Given the description of an element on the screen output the (x, y) to click on. 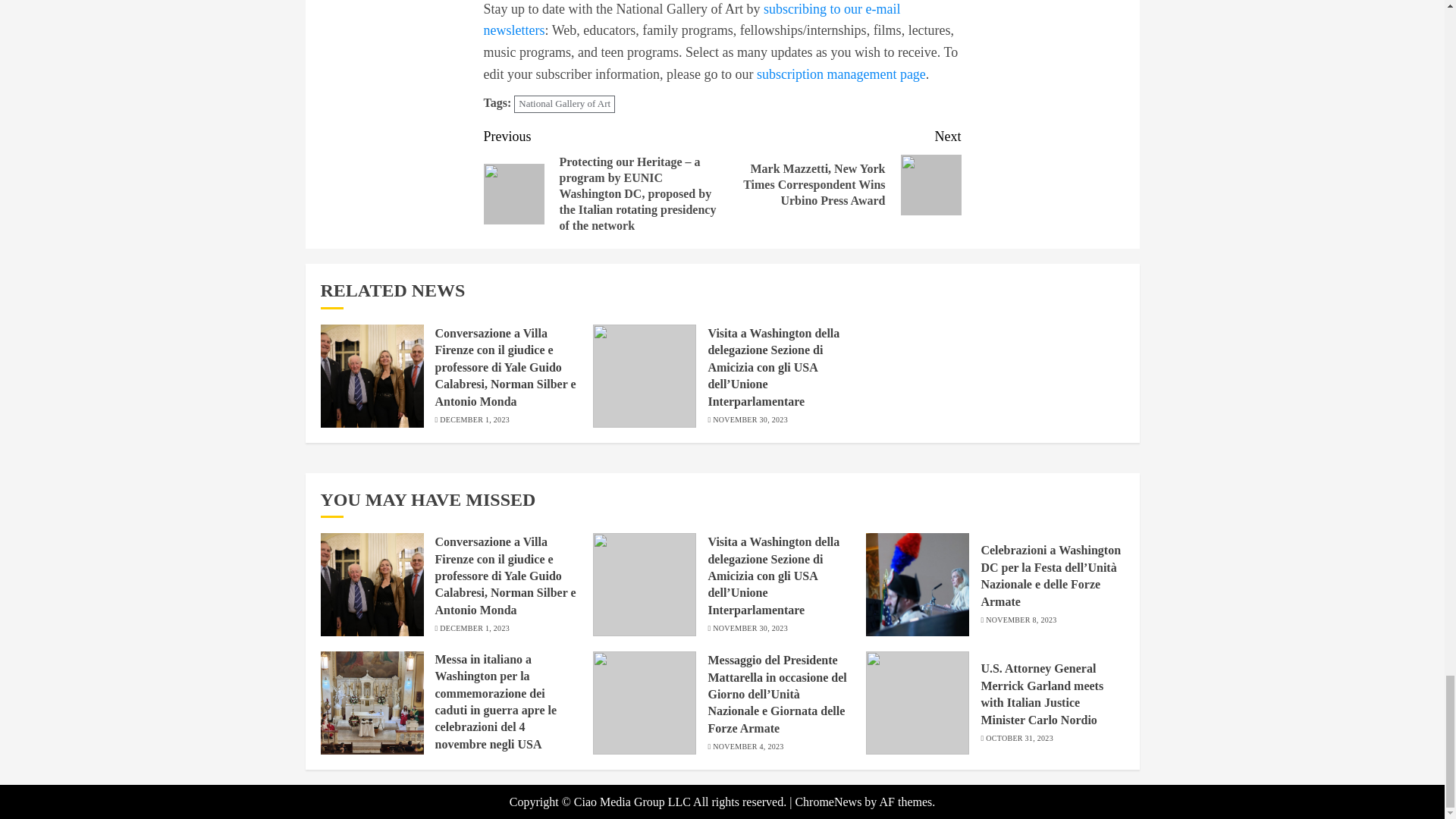
DECEMBER 1, 2023 (474, 419)
subscribing to our e-mail newsletters (692, 19)
subscription management page (841, 73)
National Gallery of Art (563, 104)
